Given the description of an element on the screen output the (x, y) to click on. 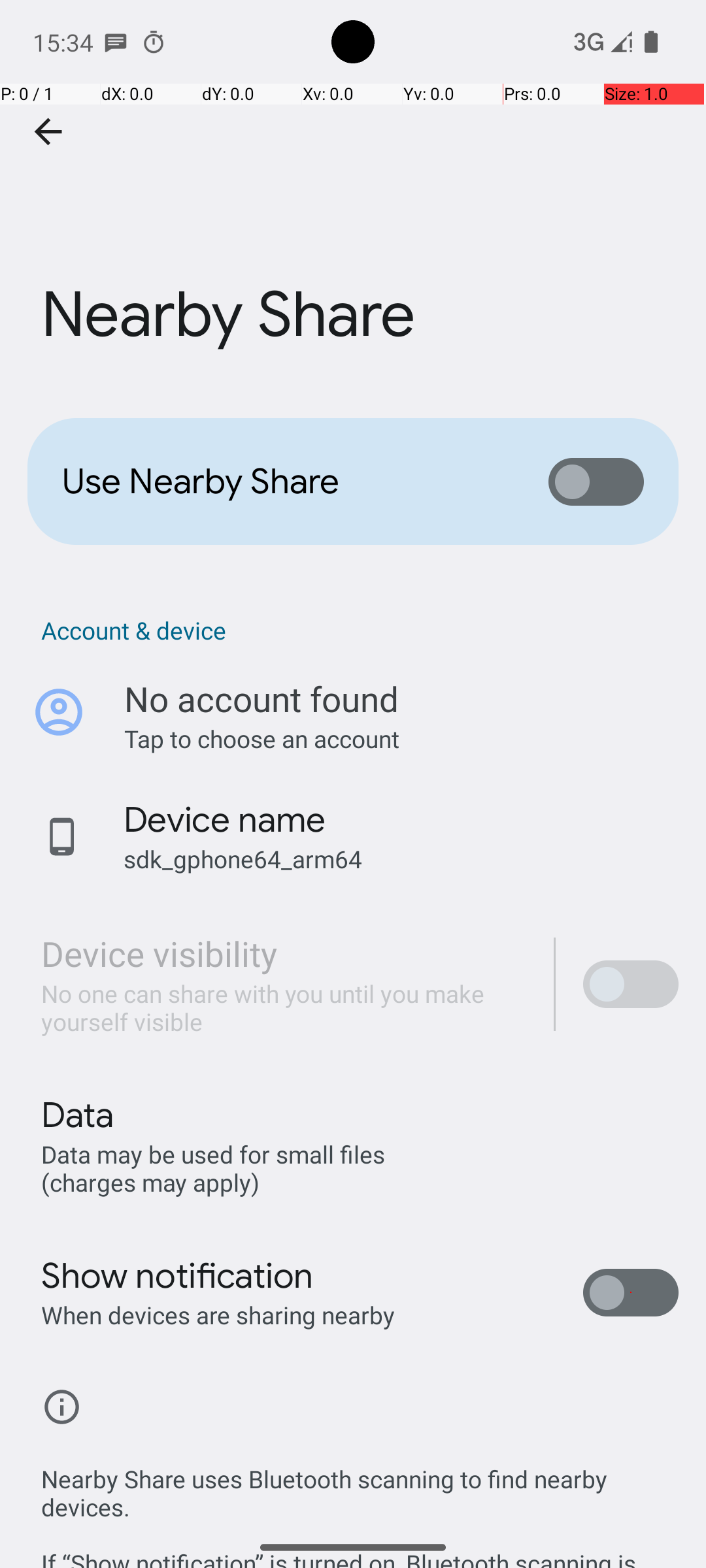
Use Nearby Share Element type: android.widget.TextView (284, 481)
Account & device Element type: android.widget.TextView (359, 629)
Tap to choose an account Element type: android.widget.TextView (401, 738)
Data Element type: android.widget.TextView (77, 1115)
Data may be used for small files 
(charges may apply) Element type: android.widget.TextView (215, 1167)
Show notification Element type: android.widget.TextView (177, 1275)
When devices are sharing nearby Element type: android.widget.TextView (218, 1314)
Nearby Share uses Bluetooth scanning to find nearby devices. 

If “Show notification” is turned on, Bluetooth scanning is used to notify you if someone wants to share with you, even when Nearby Share is turned off. Element type: android.widget.TextView (359, 1501)
No one can share with you until you make yourself visible Element type: android.widget.TextView (283, 1007)
